Given the description of an element on the screen output the (x, y) to click on. 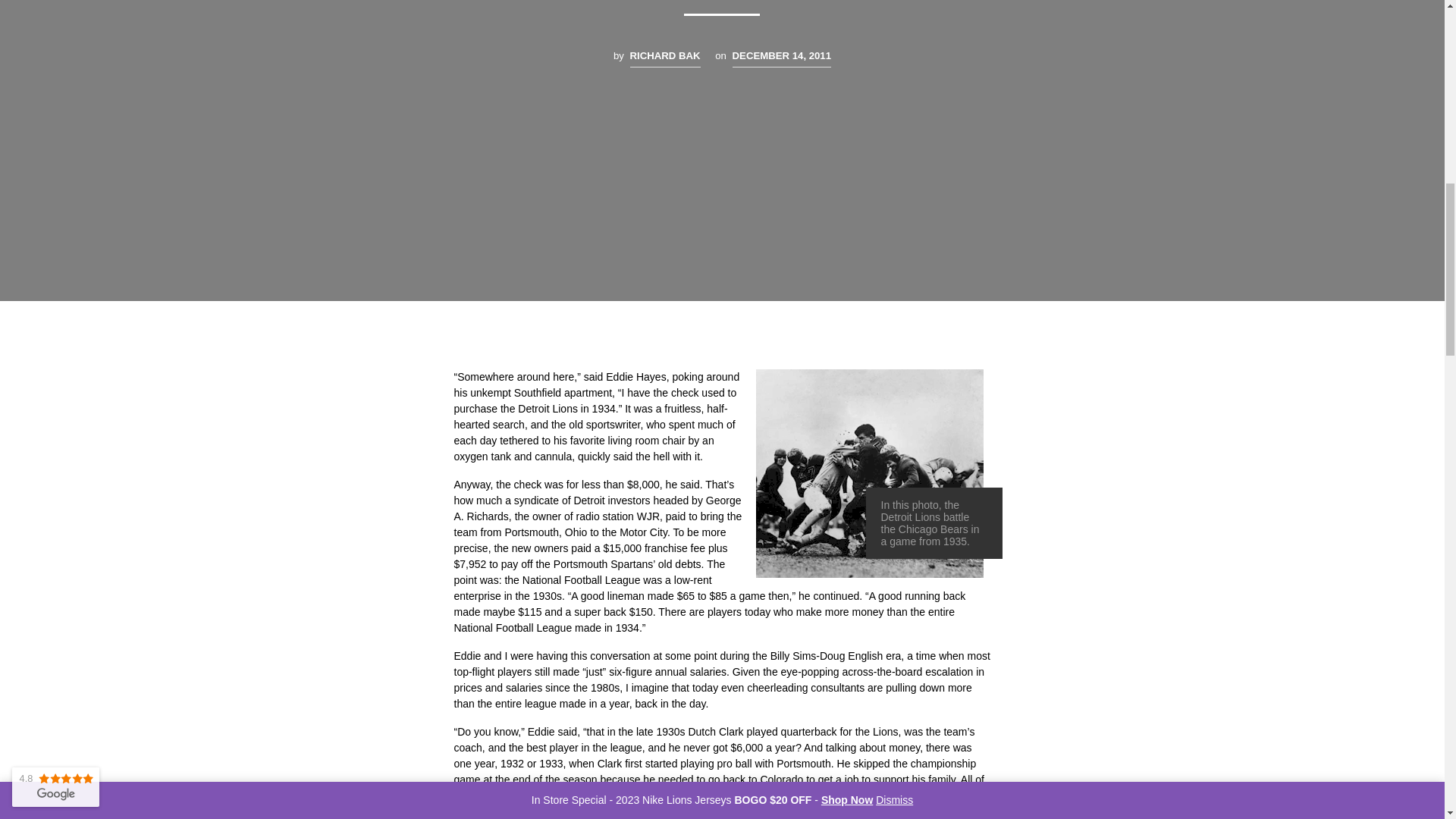
View all posts by Richard Bak (665, 57)
detroit-lions-1935 (868, 473)
